Given the description of an element on the screen output the (x, y) to click on. 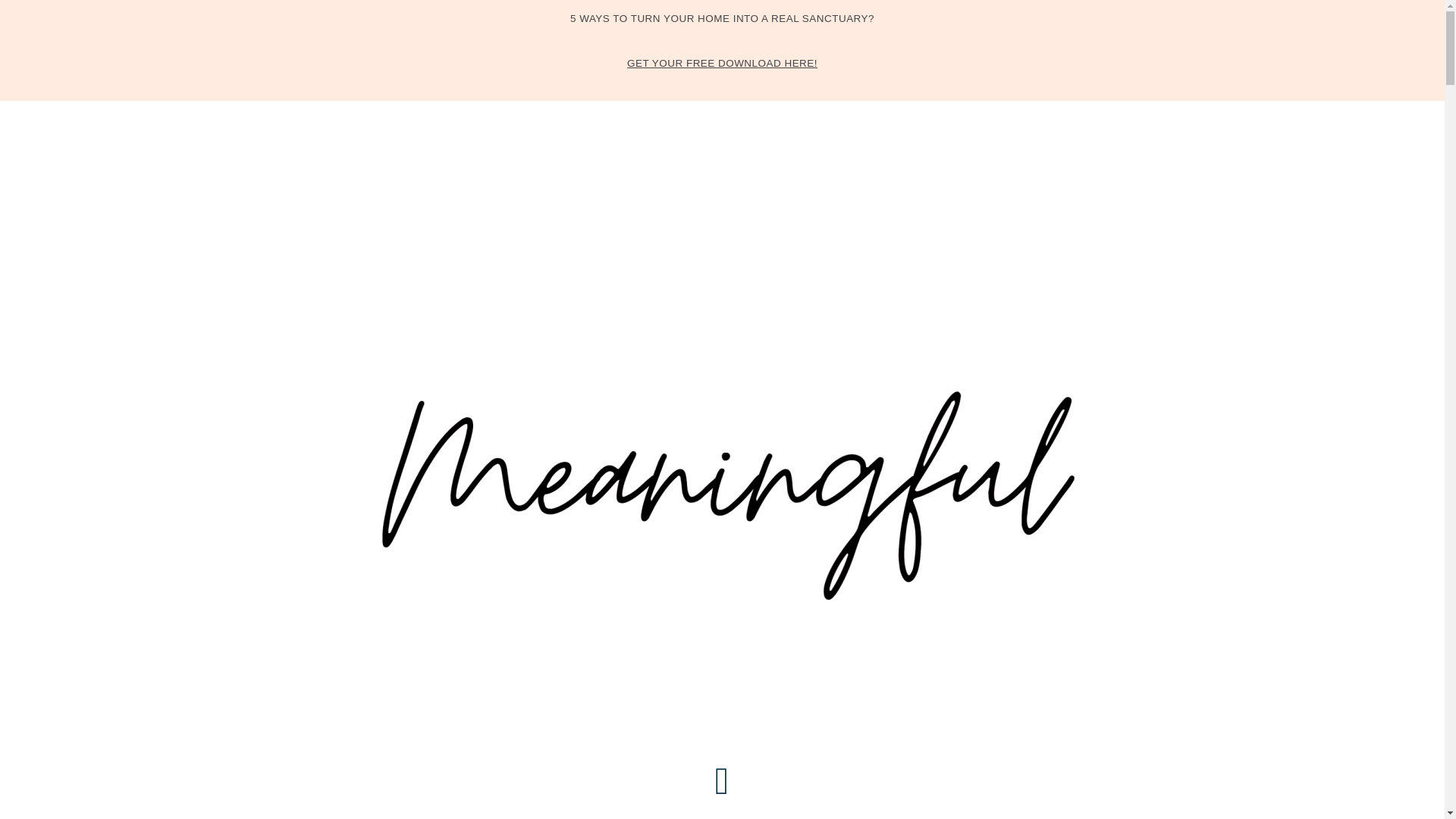
GET YOUR FREE DOWNLOAD HERE! (721, 62)
